Given the description of an element on the screen output the (x, y) to click on. 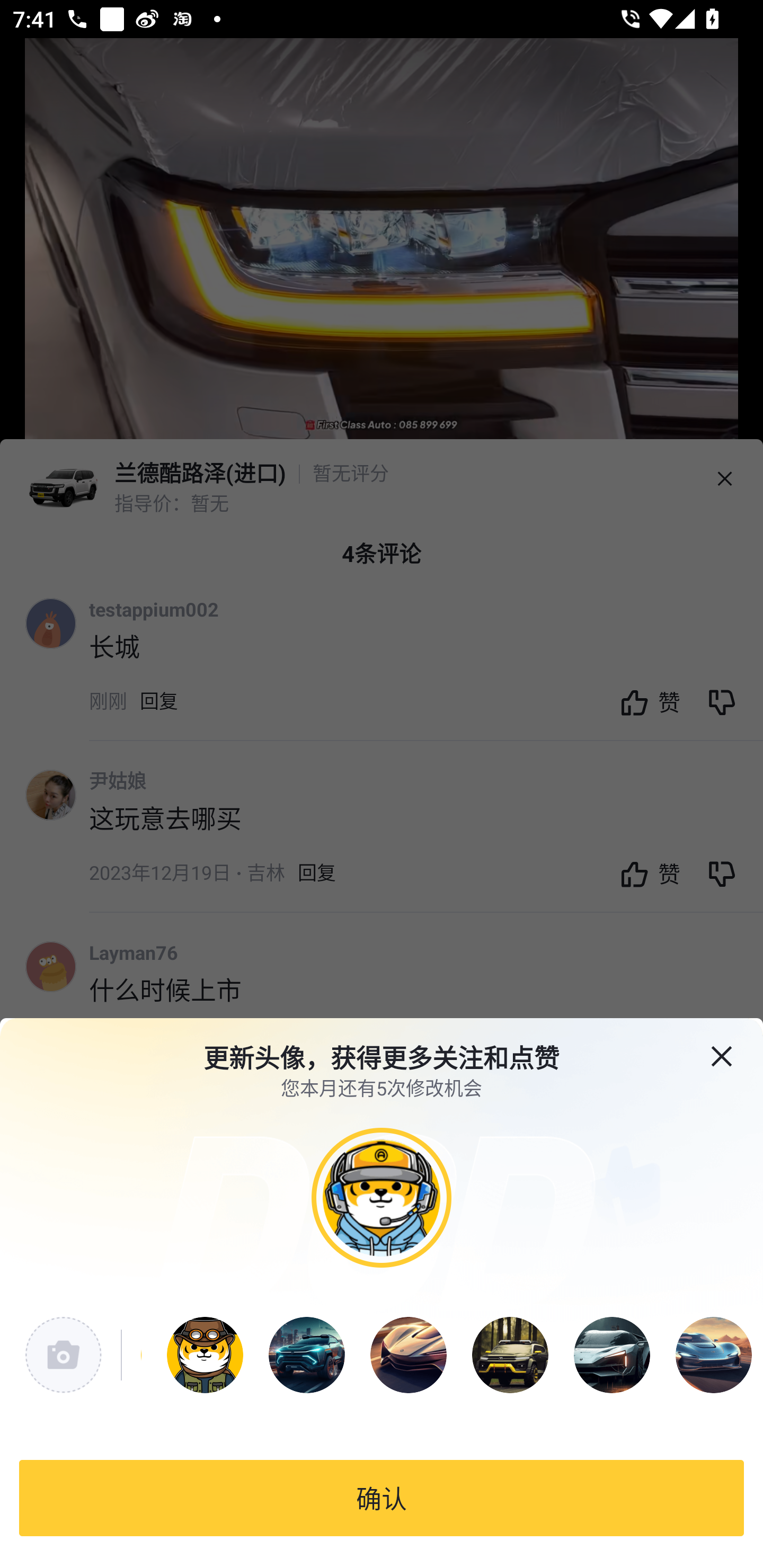
 (734, 1044)
确认 (381, 1497)
